Given the description of an element on the screen output the (x, y) to click on. 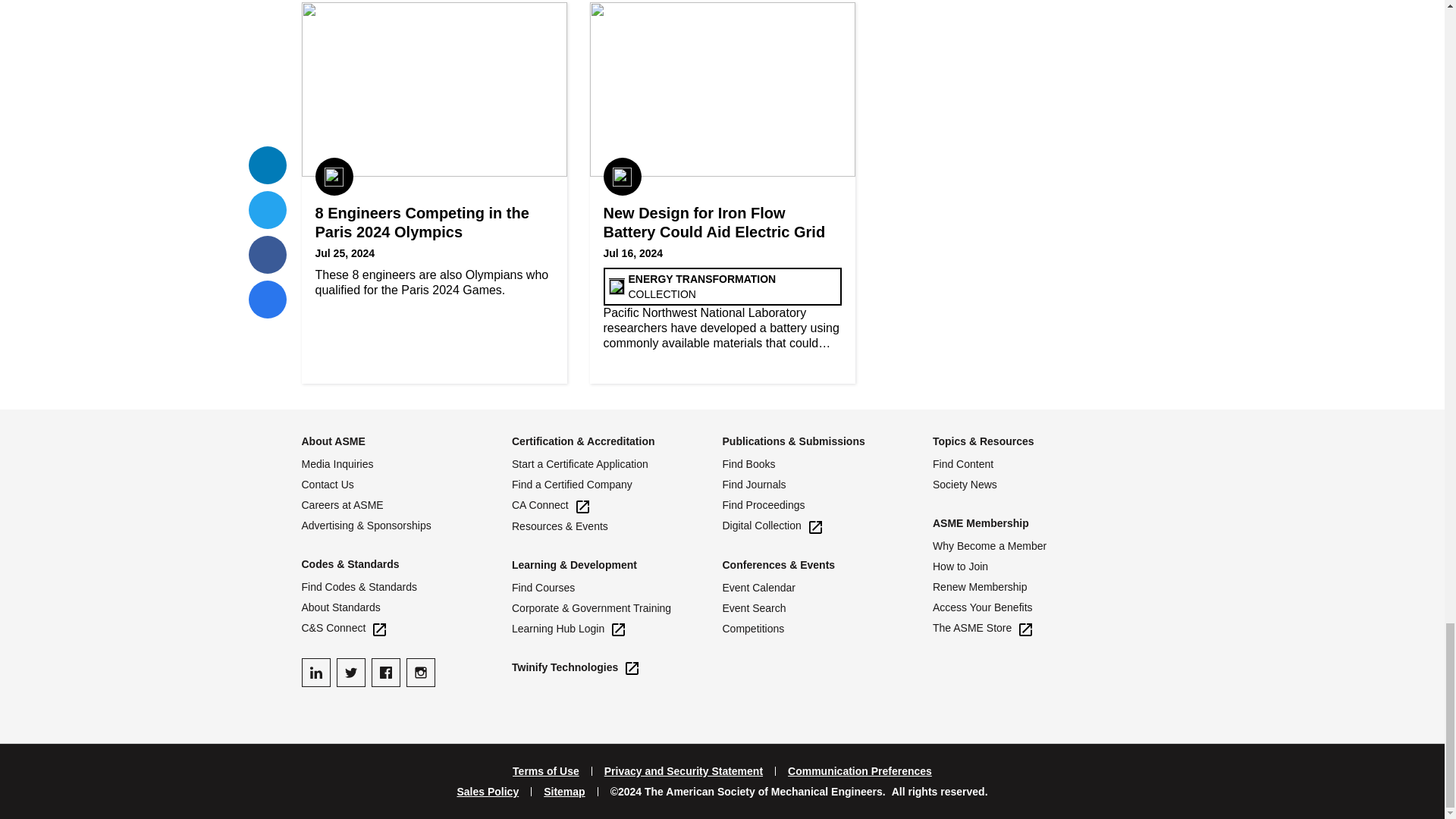
About ASME (333, 440)
ASME on Twitter (350, 672)
ASME on LinkedIn (315, 672)
ASME on Facebook (385, 672)
ASME on Instagram (420, 672)
